Given the description of an element on the screen output the (x, y) to click on. 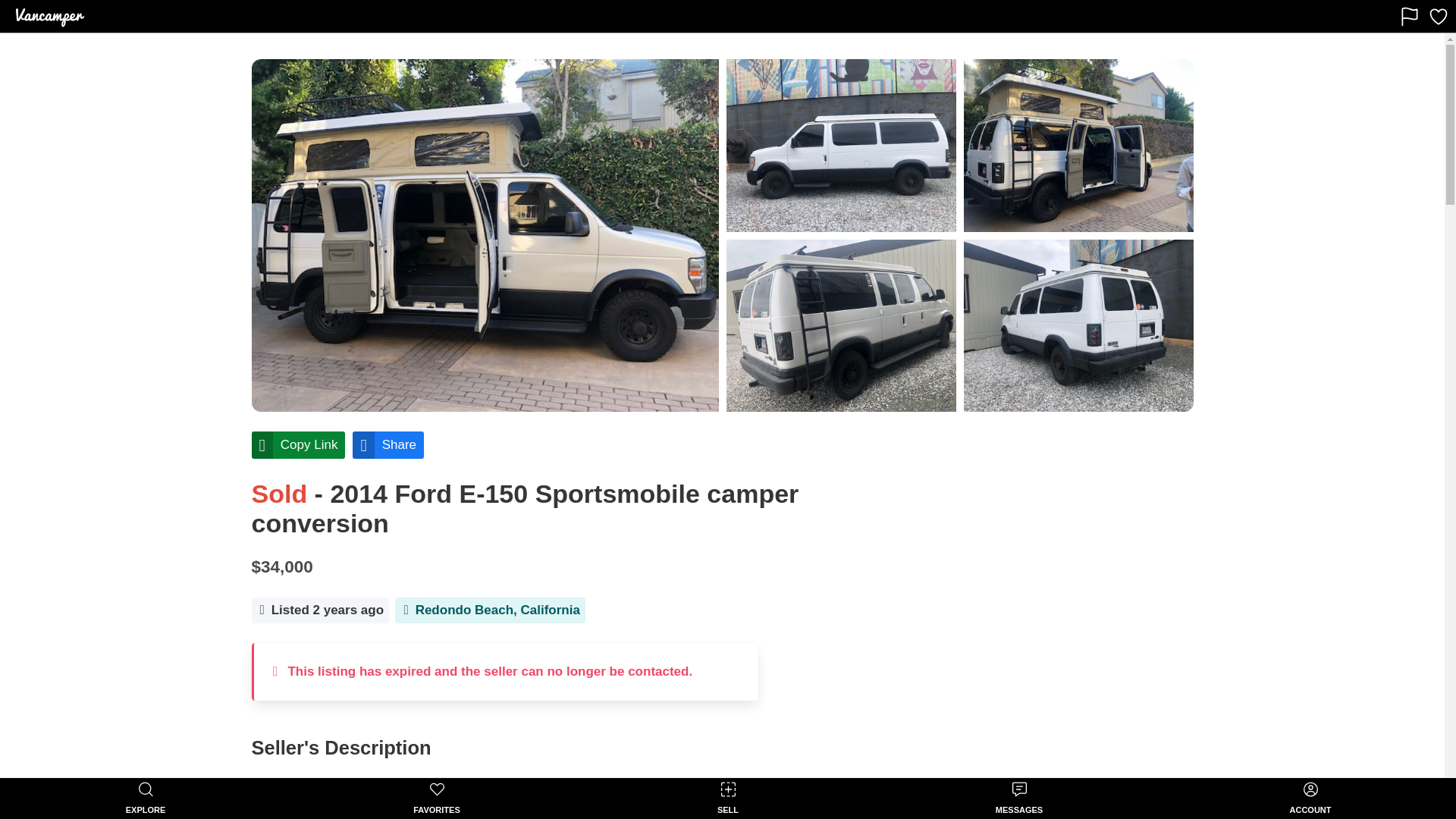
Copy Link (298, 444)
Share (387, 444)
